Given the description of an element on the screen output the (x, y) to click on. 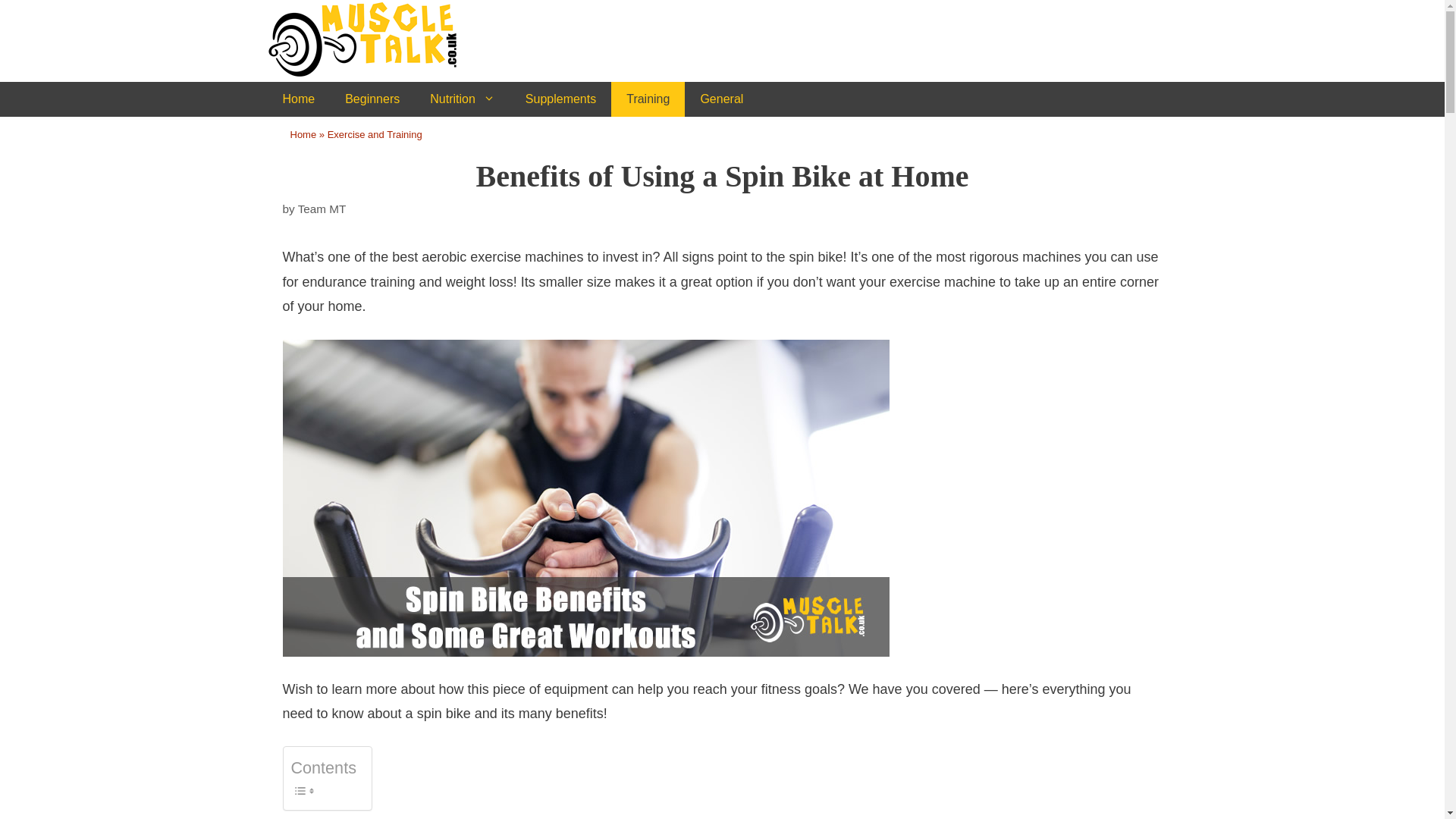
MuscleTalk (380, 38)
General (721, 99)
Home (298, 99)
Team MT (322, 208)
Exercise and Training (374, 134)
Beginners (372, 99)
Supplements (561, 99)
Training (647, 99)
View all posts by Team MT (322, 208)
MuscleTalk (380, 38)
